Given the description of an element on the screen output the (x, y) to click on. 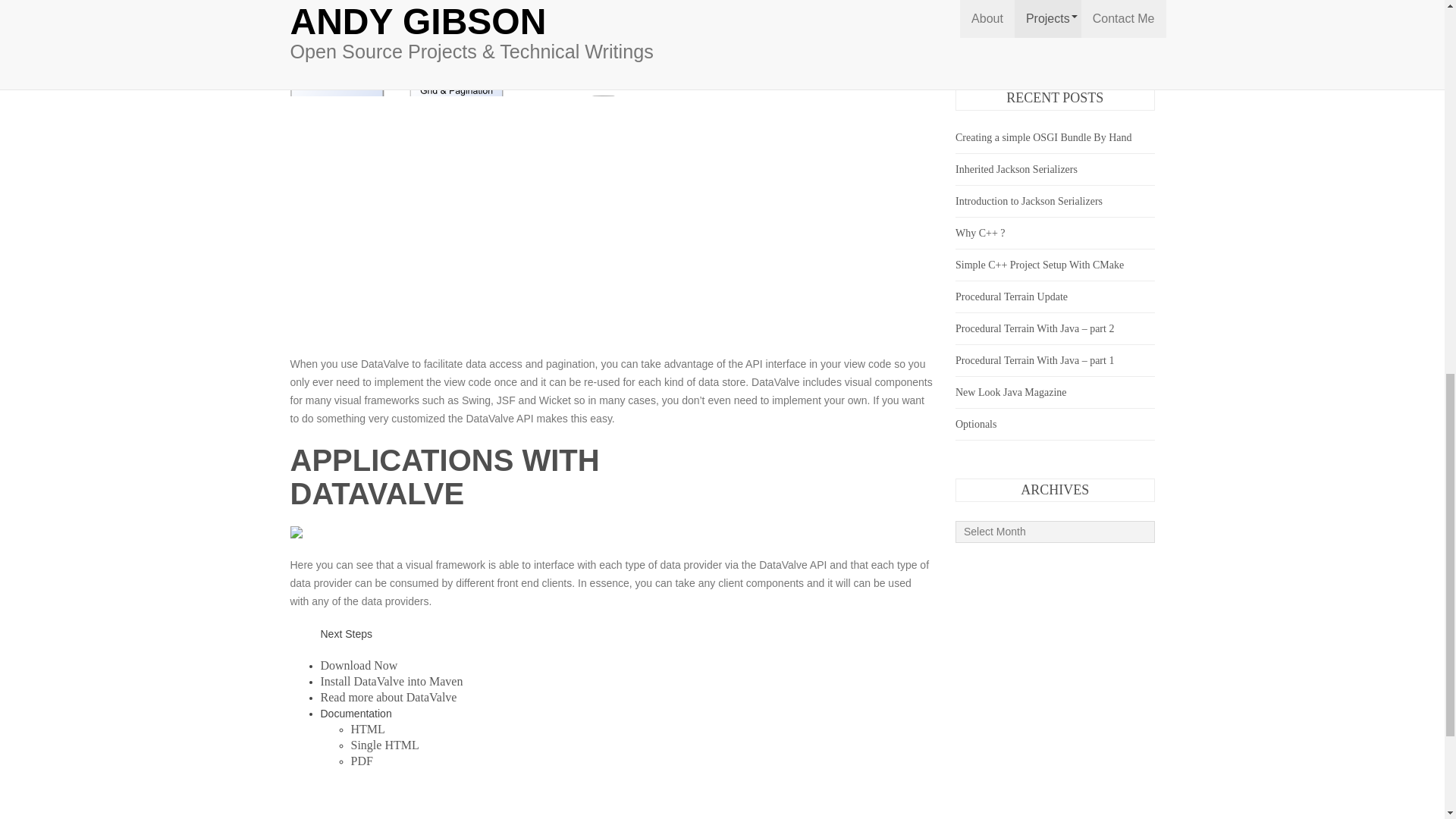
Download Now (358, 665)
HTML (367, 728)
Single HTML (384, 744)
Read more about DataValve (388, 697)
PDF (361, 760)
Install DataValve into Maven (391, 680)
